Given the description of an element on the screen output the (x, y) to click on. 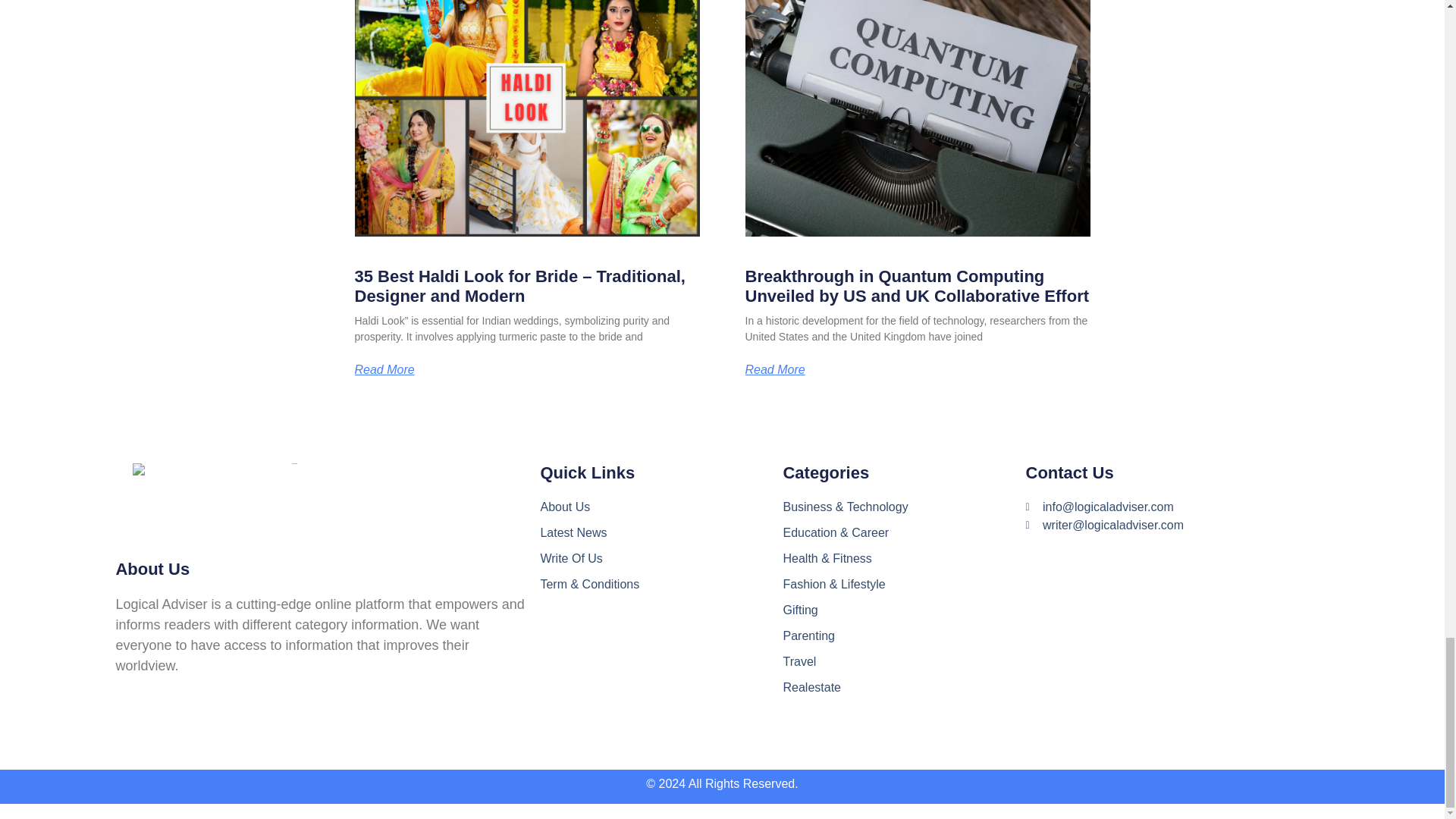
Read More (384, 369)
Read More (774, 369)
Latest News (661, 533)
About Us (661, 506)
